Given the description of an element on the screen output the (x, y) to click on. 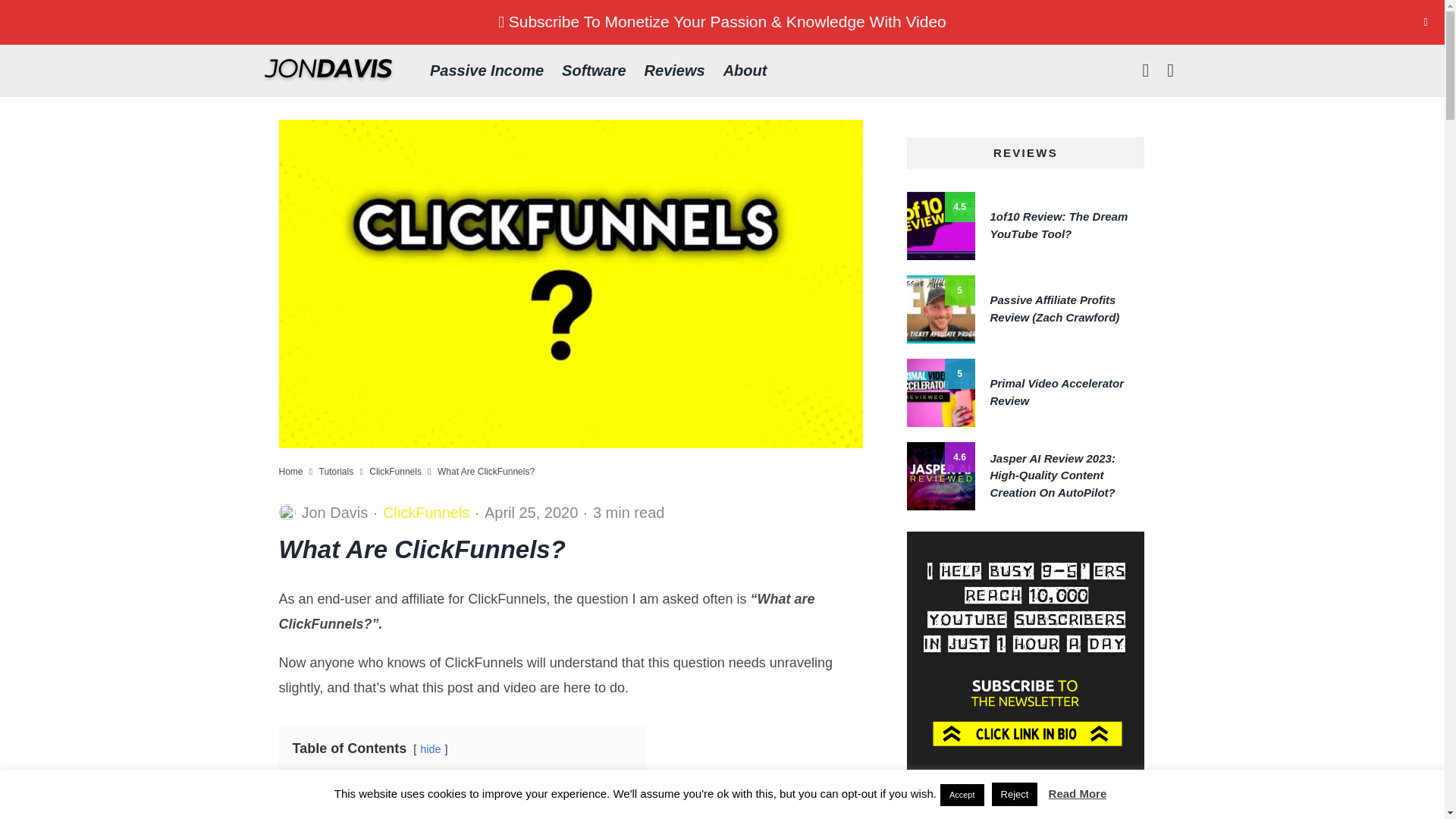
About (745, 71)
Passive Income (486, 71)
Software (593, 71)
Reviews (674, 71)
